Given the description of an element on the screen output the (x, y) to click on. 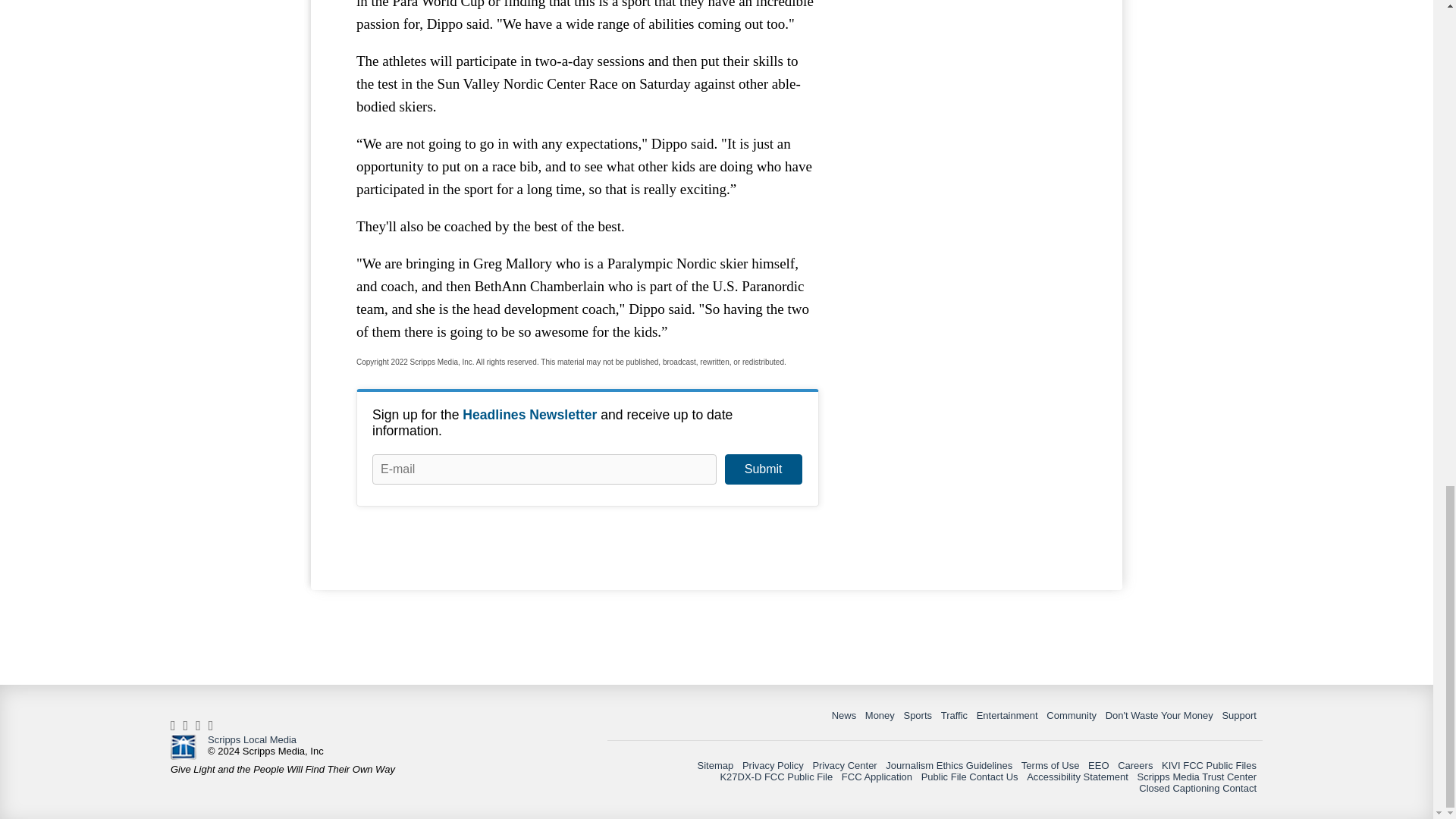
Submit (763, 469)
